Given the description of an element on the screen output the (x, y) to click on. 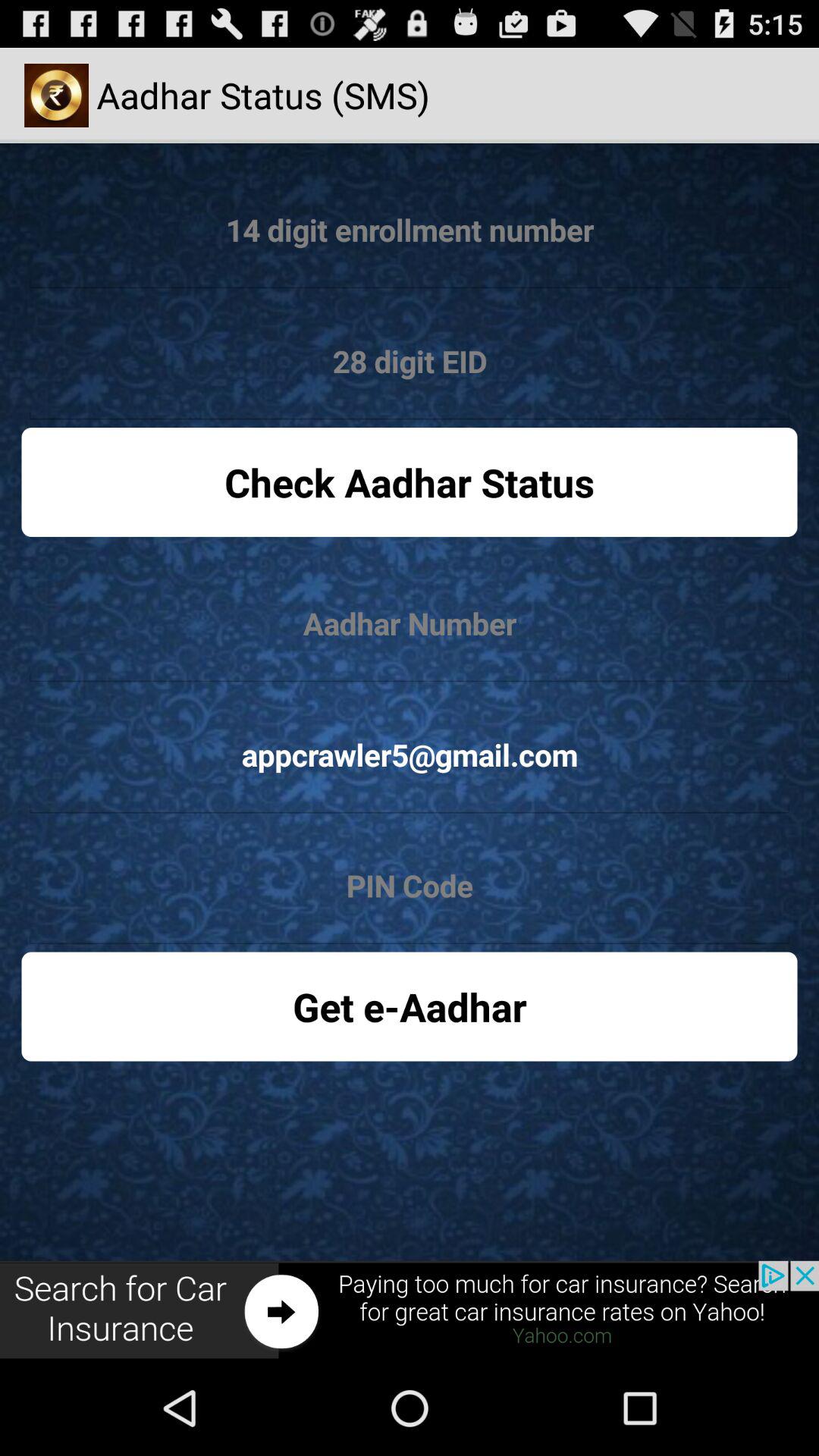
select option (409, 361)
